Given the description of an element on the screen output the (x, y) to click on. 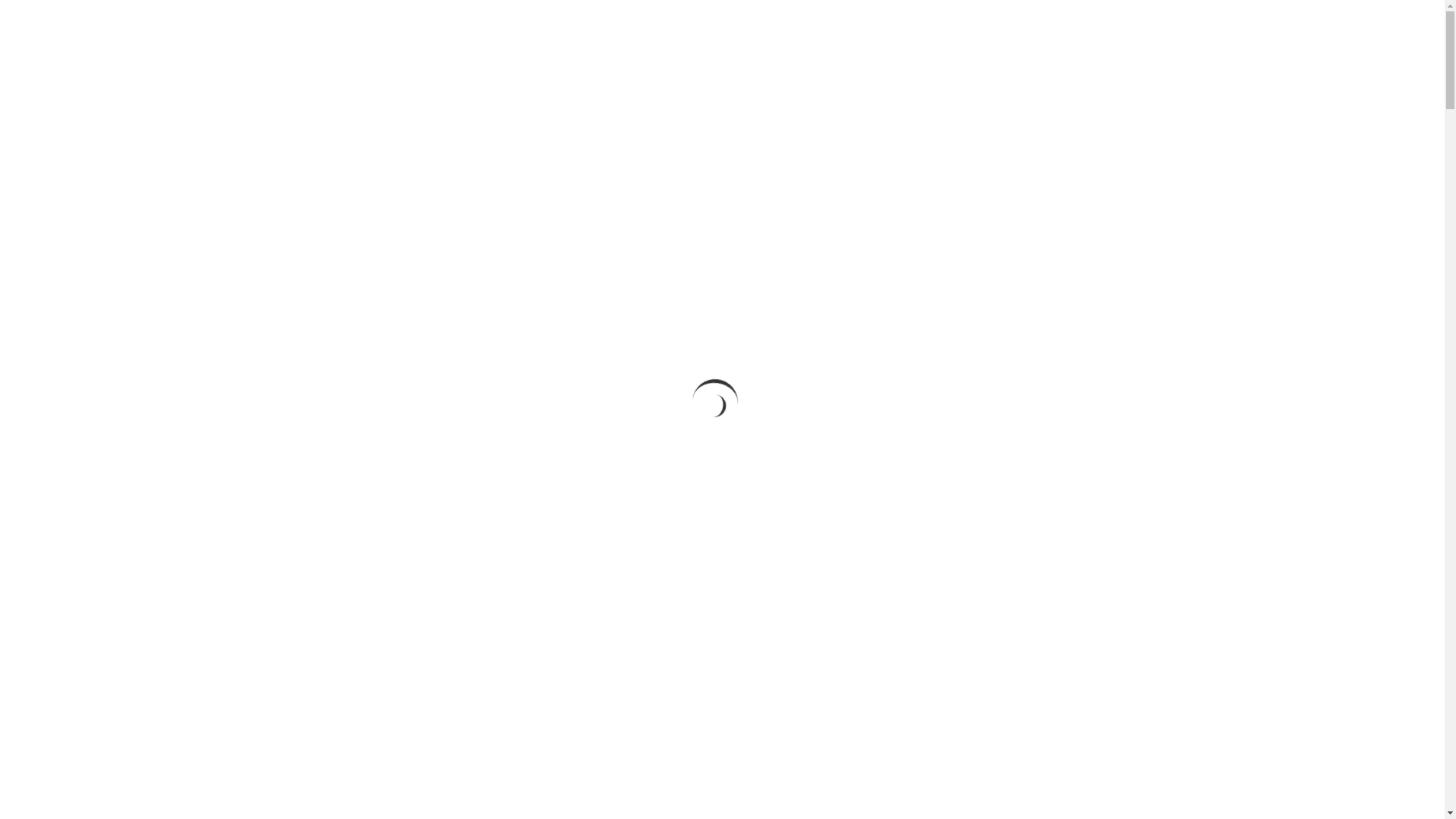
0432 296 228 Element type: text (1119, 28)
READ MORE Element type: text (721, 419)
VEHICLE SERVICING Element type: text (921, 28)
ABOUT NOOSA MECHANIC Element type: text (657, 28)
HOME Element type: text (557, 28)
MECHANICAL SERVICES Element type: text (795, 28)
GET IN TOUCH Element type: text (1025, 28)
